Given the description of an element on the screen output the (x, y) to click on. 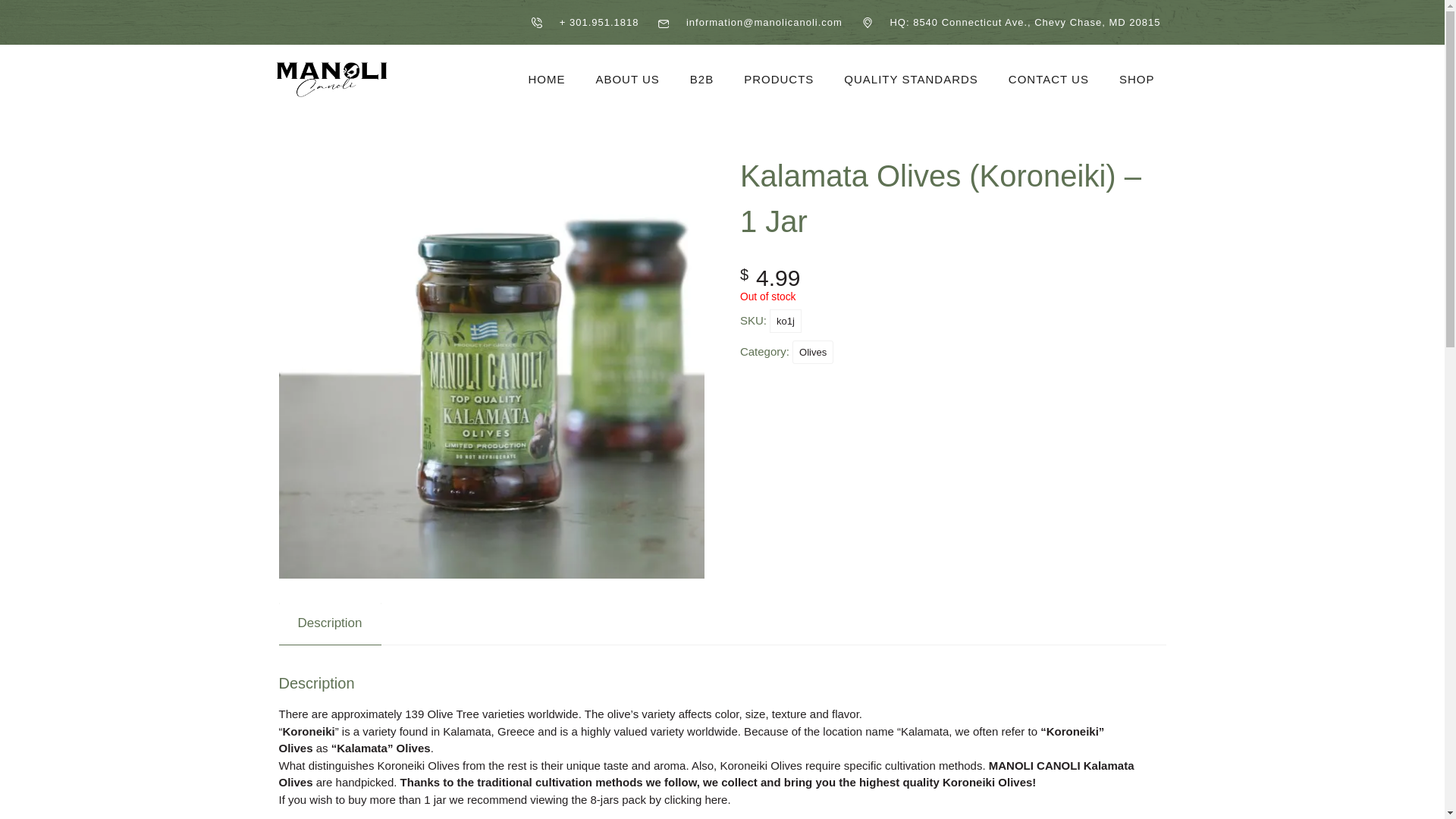
Olives (812, 351)
B2B (702, 30)
Description (329, 622)
HOME (545, 22)
QUALITY STANDARDS (910, 55)
PRODUCTS (778, 34)
SHOP (1136, 60)
CONTACT US (1047, 58)
ABOUT US (626, 25)
